Given the description of an element on the screen output the (x, y) to click on. 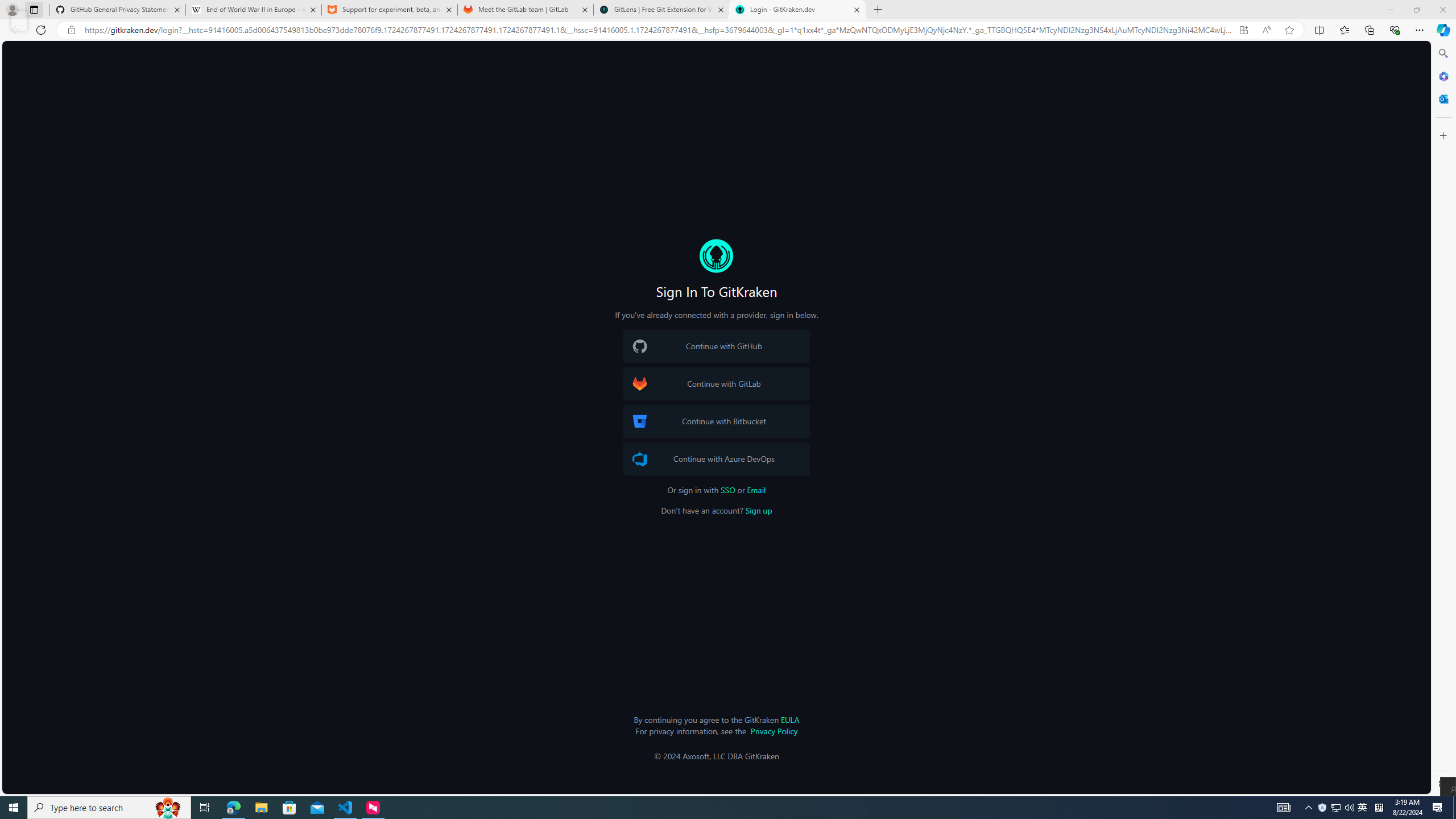
Bitbucket Logo (639, 421)
EULA (789, 719)
Azure DevOps Logo (639, 458)
GitLens | Free Git Extension for Visual Studio Code (660, 9)
GitHub Logo (639, 346)
